Given the description of an element on the screen output the (x, y) to click on. 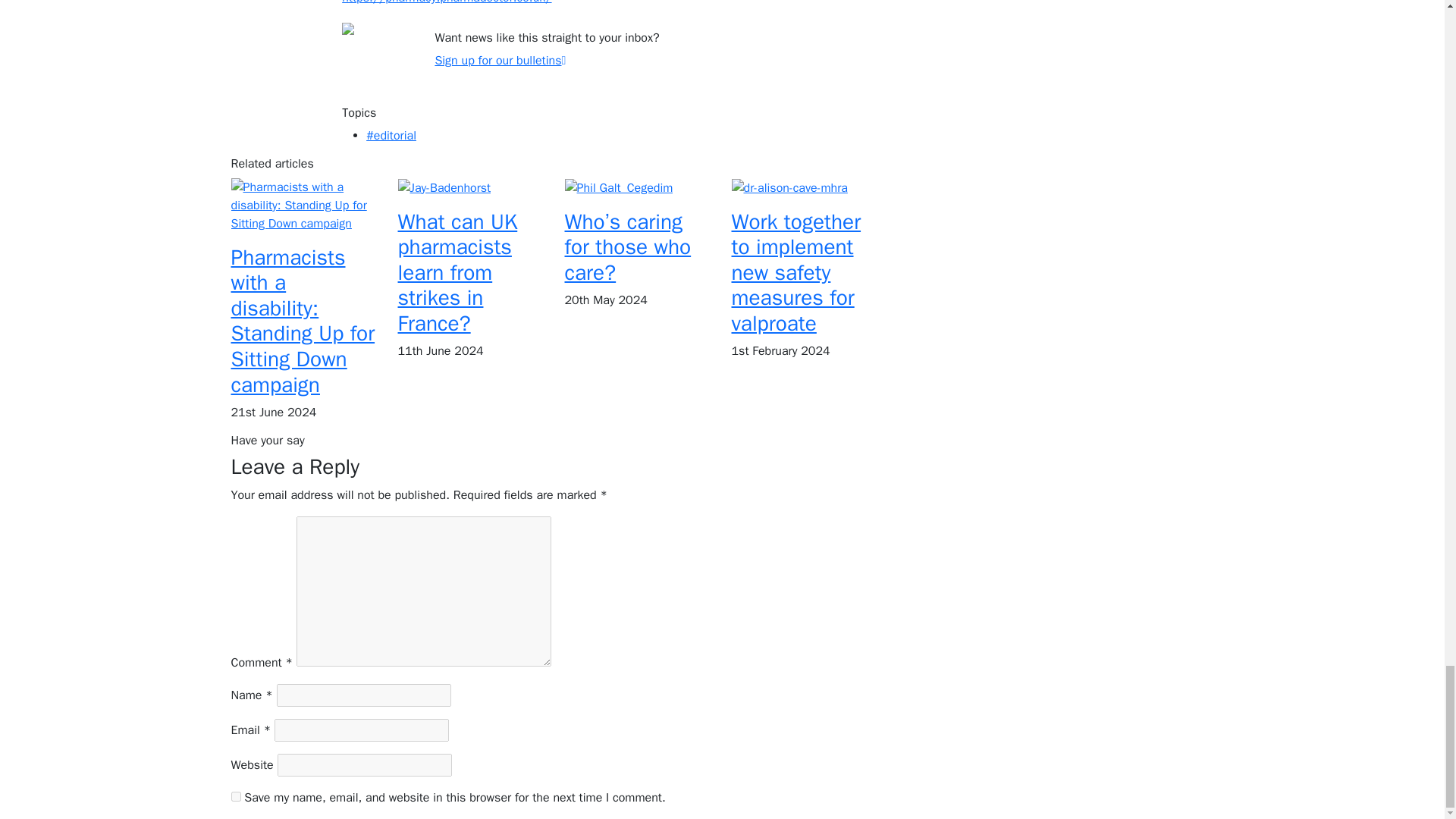
Sign up for our bulletins (499, 60)
Work together to implement new safety measures for valproate (788, 186)
What can UK pharmacists learn from strikes in France? (456, 272)
View more for editorial (391, 135)
What can UK pharmacists learn from strikes in France? (443, 186)
Work together to implement new safety measures for valproate (795, 272)
yes (235, 796)
